Given the description of an element on the screen output the (x, y) to click on. 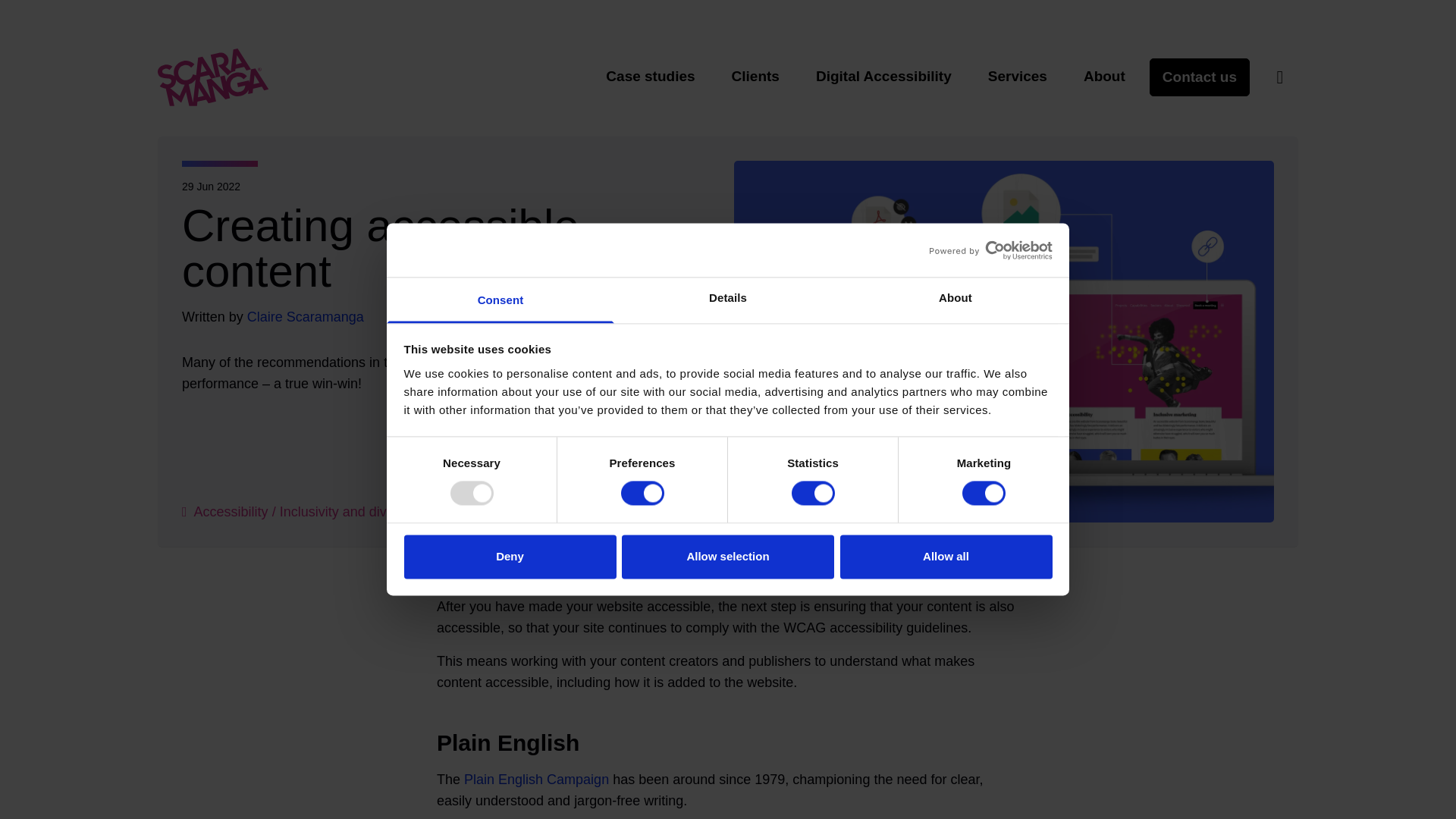
Details (727, 299)
Consent (500, 299)
About (954, 299)
